Given the description of an element on the screen output the (x, y) to click on. 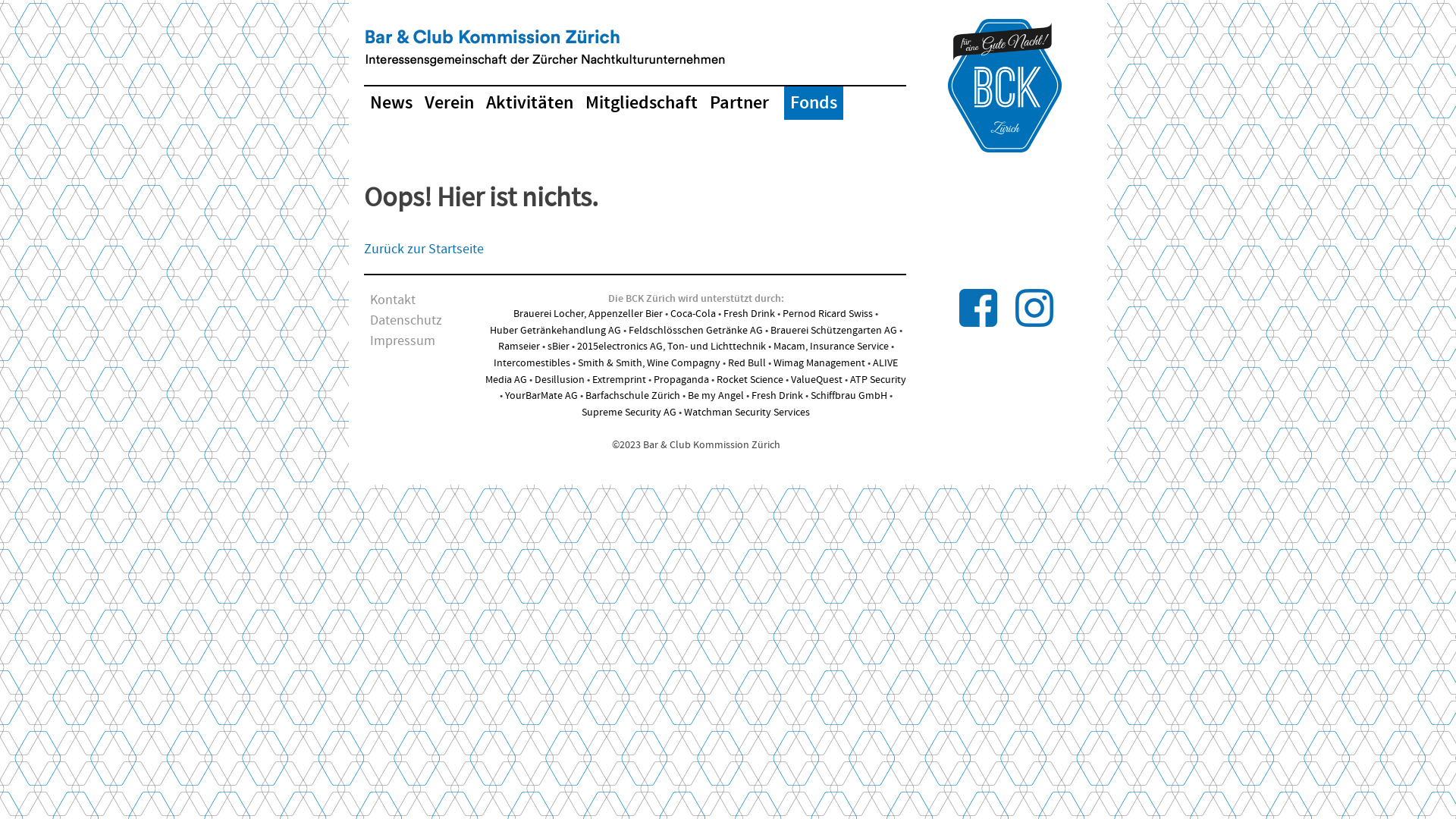
ALIVE Media AG Element type: text (691, 371)
YourBarMate AG Element type: text (541, 395)
Verein Element type: text (449, 102)
Pernod Ricard Swiss Element type: text (827, 313)
Red Bull Element type: text (746, 362)
Fresh Drink Element type: text (749, 313)
Extremprint Element type: text (619, 379)
Desillusion Element type: text (559, 379)
Ramseier Element type: text (518, 346)
Intercomestibles Element type: text (531, 362)
Watchman Security Services Element type: text (746, 412)
Rocket Science Element type: text (749, 379)
Macam, Insurance Service Element type: text (830, 346)
Smith & Smith, Wine Compagny Element type: text (648, 362)
Wimag Management Element type: text (819, 362)
Skip to content Element type: text (363, 14)
sBier Element type: text (558, 346)
Coca-Cola Element type: text (692, 313)
Brauerei Locher, Appenzeller Bier Element type: text (587, 313)
Impressum Element type: text (402, 341)
Supreme Security AG Element type: text (628, 412)
Be my Angel Element type: text (715, 395)
Fresh Drink Element type: text (776, 395)
2015electronics AG, Ton- und Lichttechnik Element type: text (670, 346)
Partner Element type: text (739, 102)
ValueQuest Element type: text (816, 379)
Kontakt Element type: text (392, 300)
News Element type: text (391, 102)
Fonds Element type: text (813, 102)
Datenschutz Element type: text (406, 320)
ATP Security Element type: text (878, 379)
Schiffbrau GmbH Element type: text (847, 395)
Mitgliedschaft Element type: text (641, 102)
Propaganda Element type: text (681, 379)
